Given the description of an element on the screen output the (x, y) to click on. 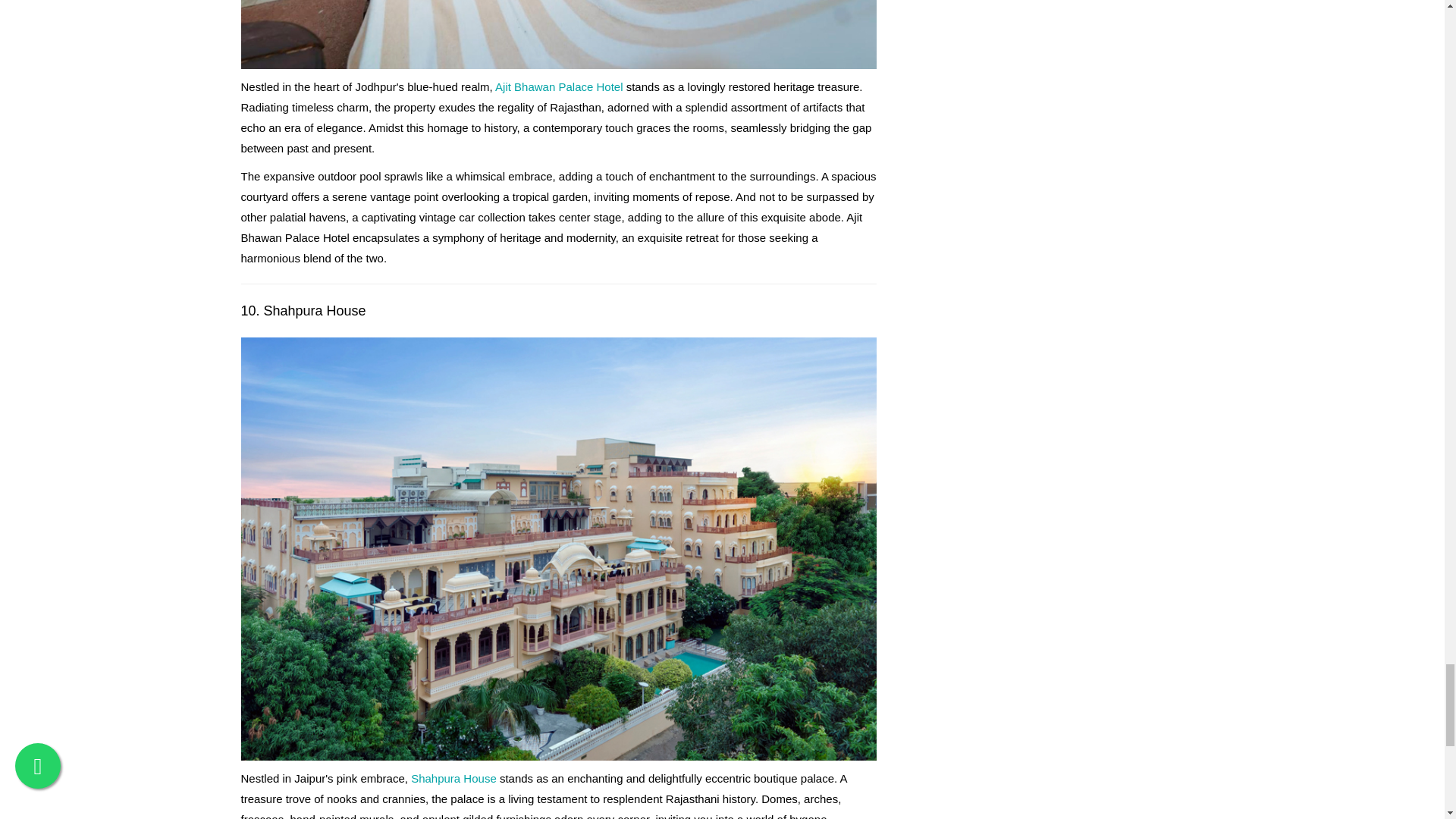
Shahpura House (453, 778)
Ajit Bhawan Palace Hotel (559, 86)
